Given the description of an element on the screen output the (x, y) to click on. 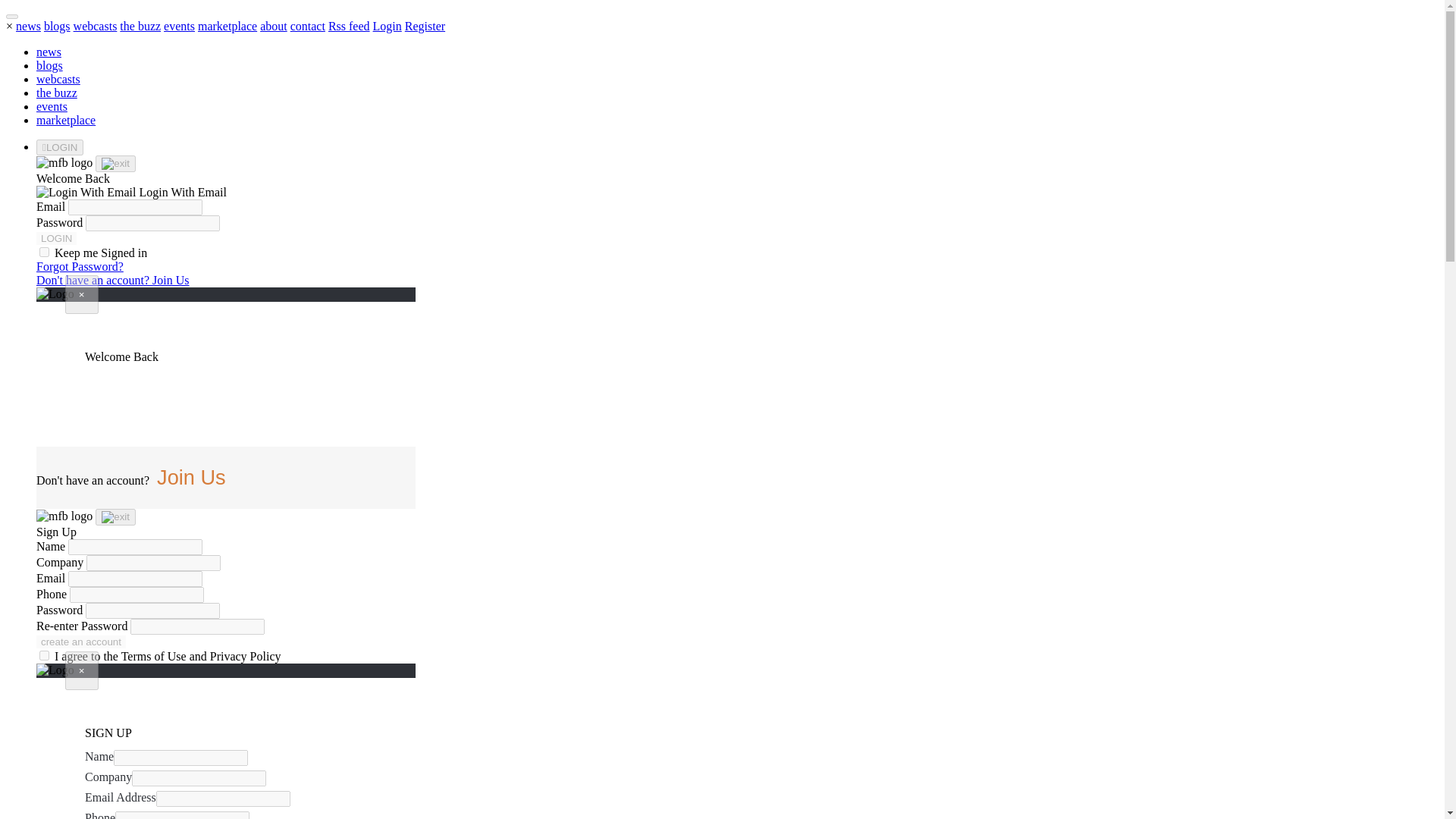
LOGIN (56, 237)
blogs (49, 65)
the buzz (56, 92)
Rss feed (349, 25)
marketplace (66, 119)
news (28, 25)
about (273, 25)
LOGIN (59, 147)
the buzz (139, 25)
contact (306, 25)
true (44, 252)
webcasts (58, 78)
Login With Email (131, 192)
events (51, 106)
Register (424, 25)
